Given the description of an element on the screen output the (x, y) to click on. 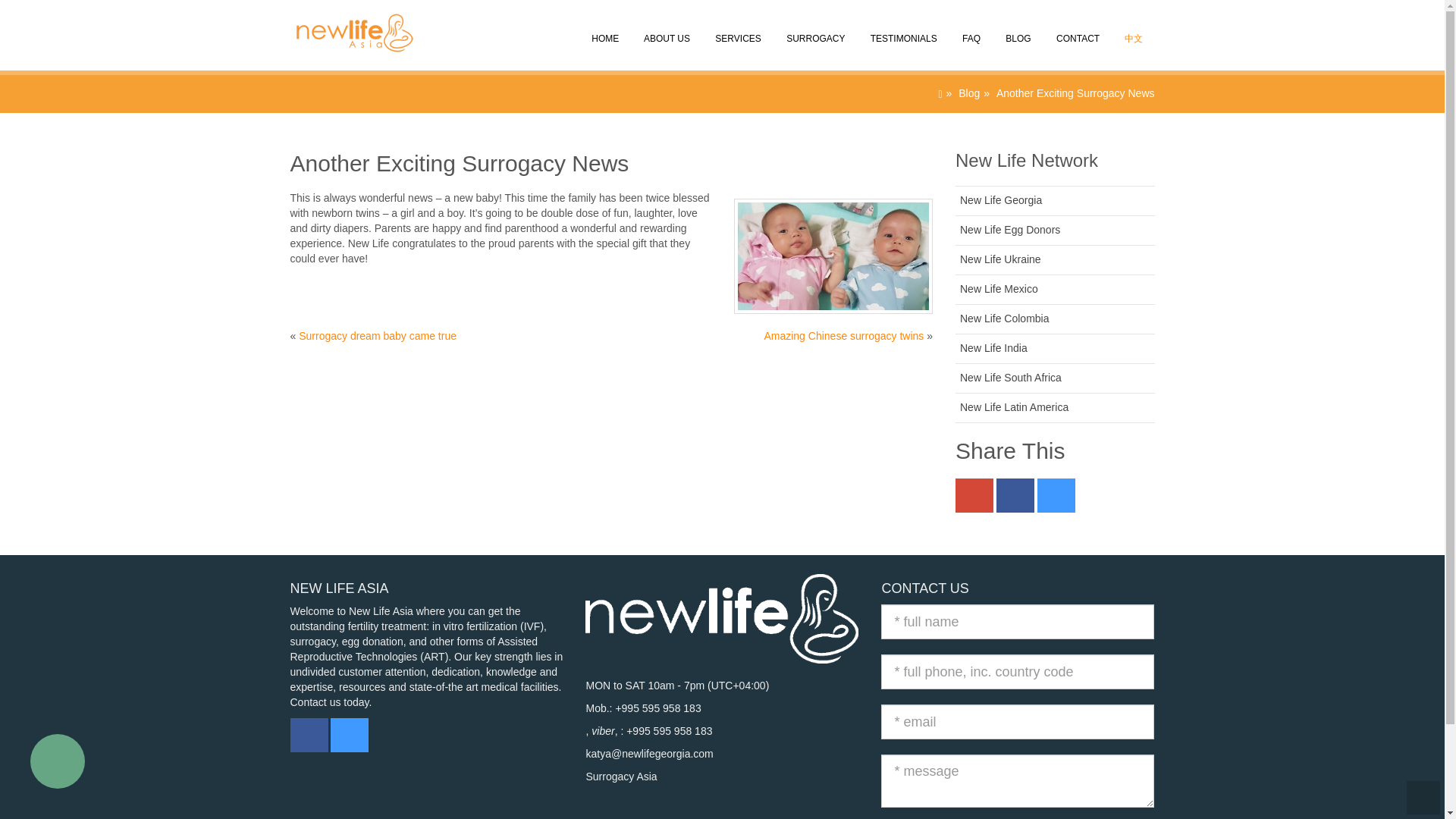
Amazing Chinese surrogacy twins (842, 336)
Surrogacy Asia EN (346, 18)
SERVICES (737, 33)
New Life Ukraine (1000, 259)
 TESTIMONIALS (903, 33)
About Us (665, 33)
 ABOUT US (665, 33)
New Life South Africa (1010, 377)
New Life Mexico (998, 288)
New Life Egg Donors (1009, 229)
New Life Latin America (1013, 407)
Blog (968, 92)
Surrogacy dream baby came true (377, 336)
 SERVICES (737, 33)
New Life Georgia (1000, 200)
